Given the description of an element on the screen output the (x, y) to click on. 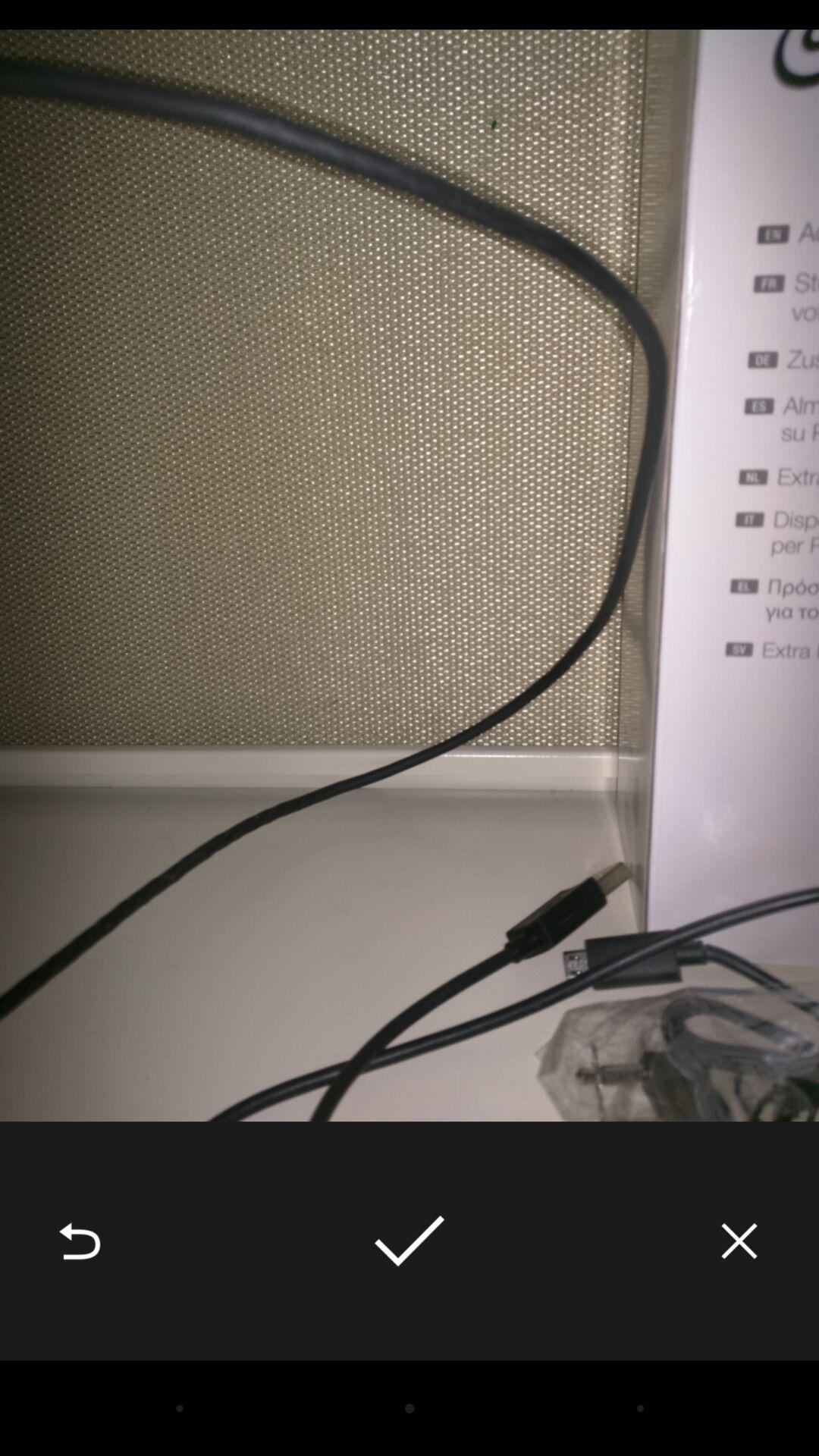
turn on item at the bottom right corner (739, 1240)
